Given the description of an element on the screen output the (x, y) to click on. 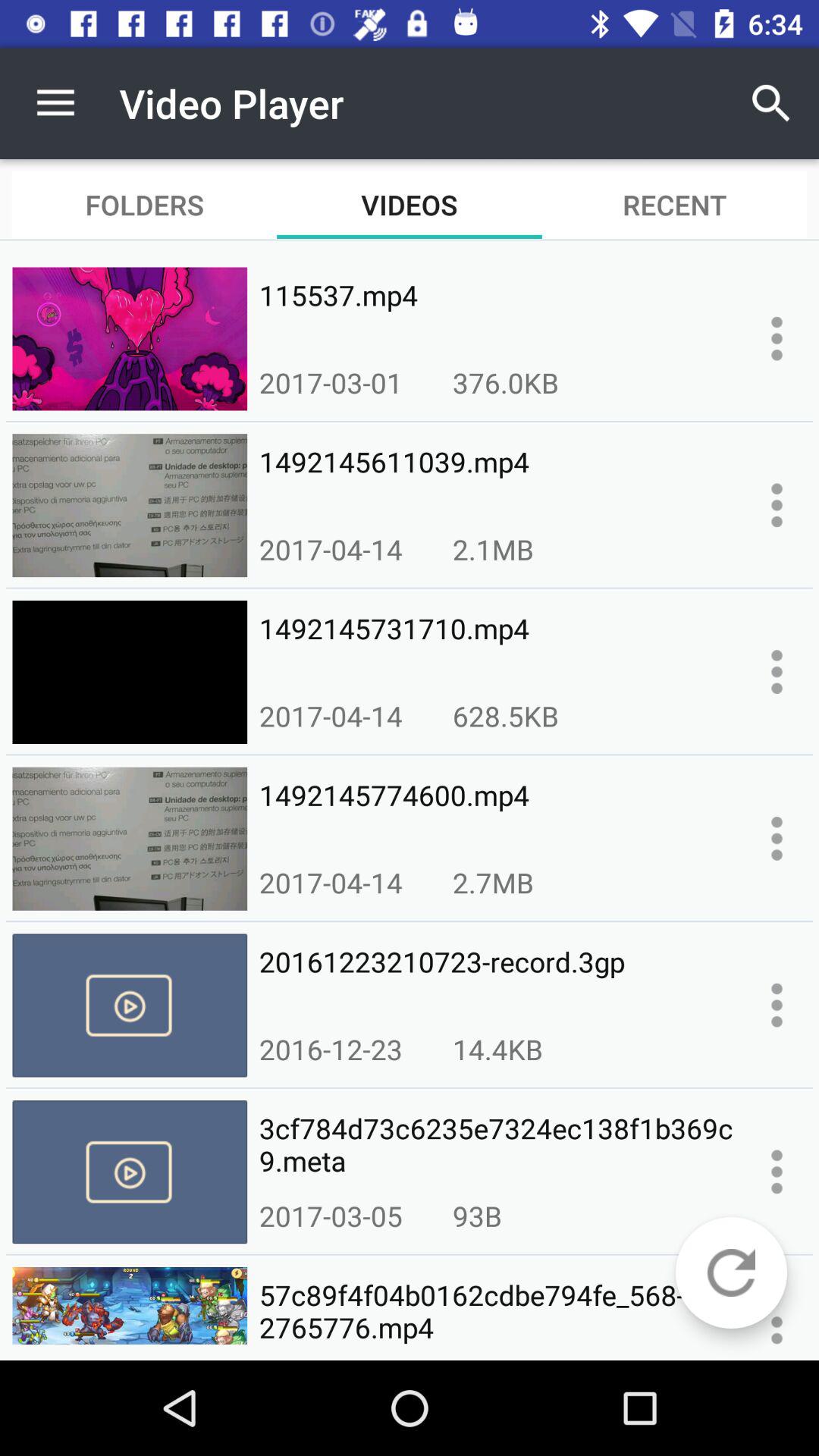
toggle more options (776, 838)
